Given the description of an element on the screen output the (x, y) to click on. 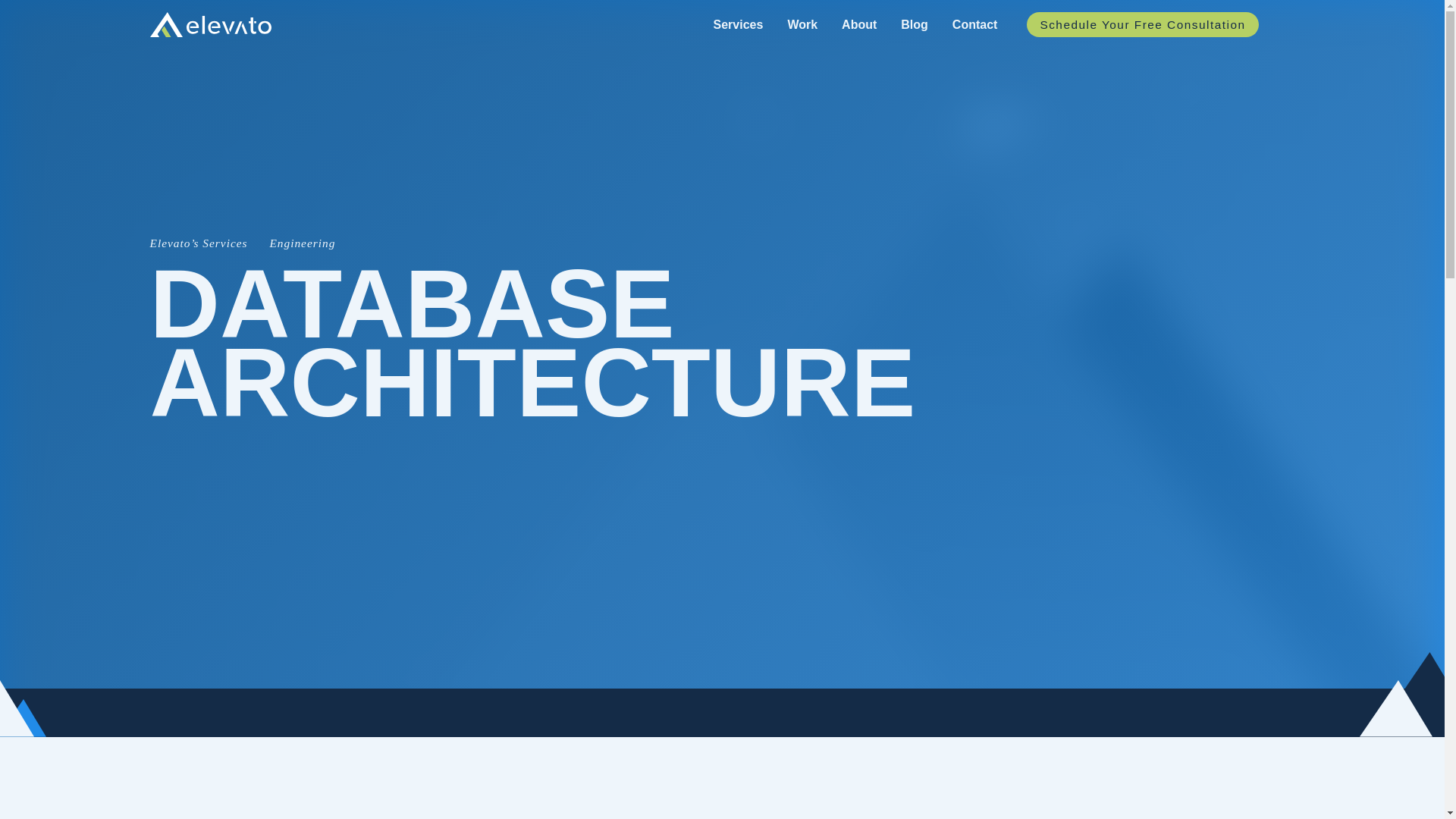
About (858, 24)
Elevato (209, 24)
Work (801, 24)
Contact (974, 24)
Services (737, 24)
Blog (914, 24)
Engineering (301, 243)
Schedule Your Free Consultation (1141, 24)
Go to Engineering. (301, 243)
